Given the description of an element on the screen output the (x, y) to click on. 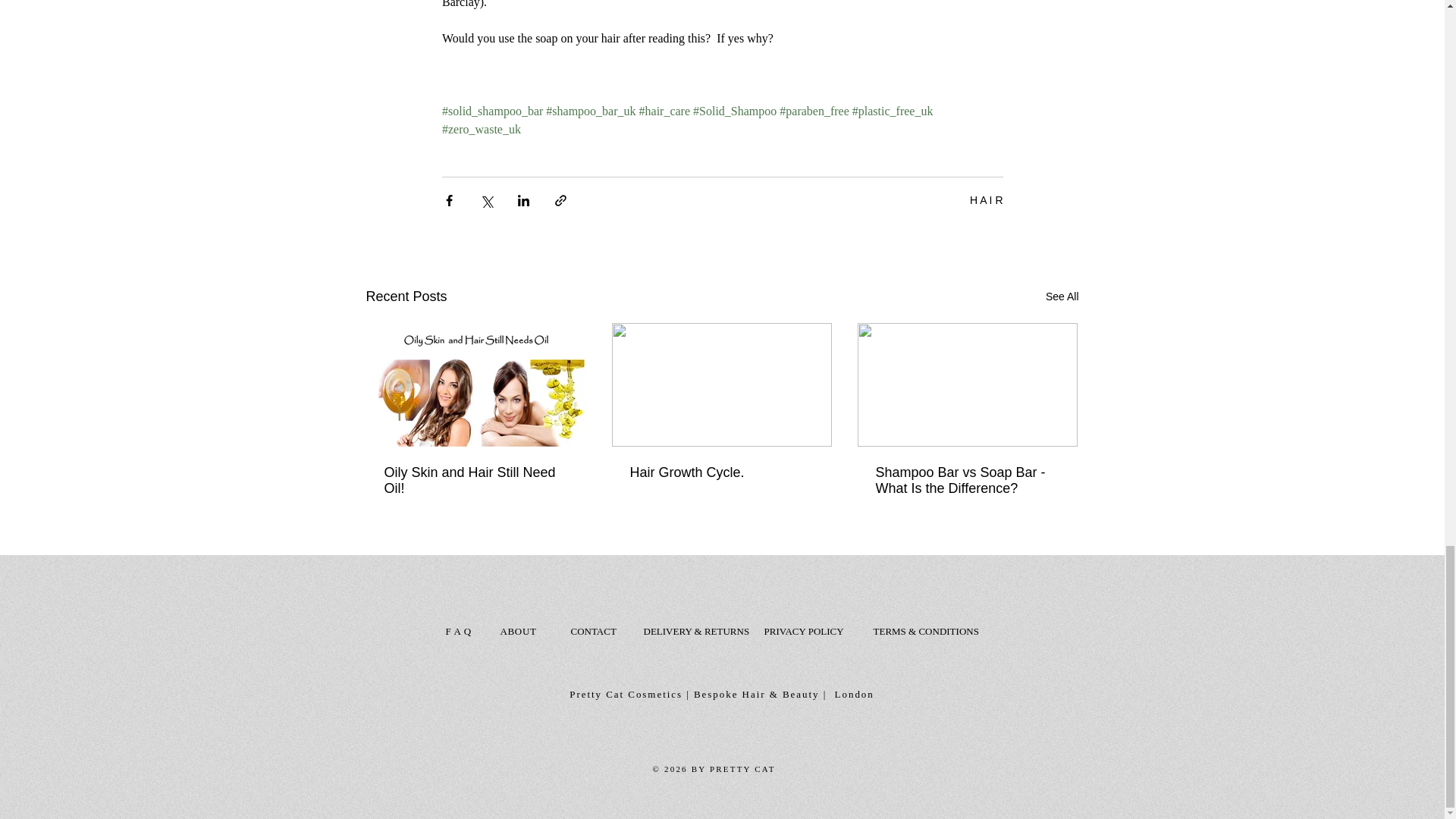
Oily Skin and Hair Still Need Oil! (475, 480)
H A I R (986, 199)
Shampoo Bar vs Soap Bar - What Is the Difference? (966, 480)
F A Q (458, 631)
See All (1061, 296)
Hair Growth Cycle. (720, 472)
